Given the description of an element on the screen output the (x, y) to click on. 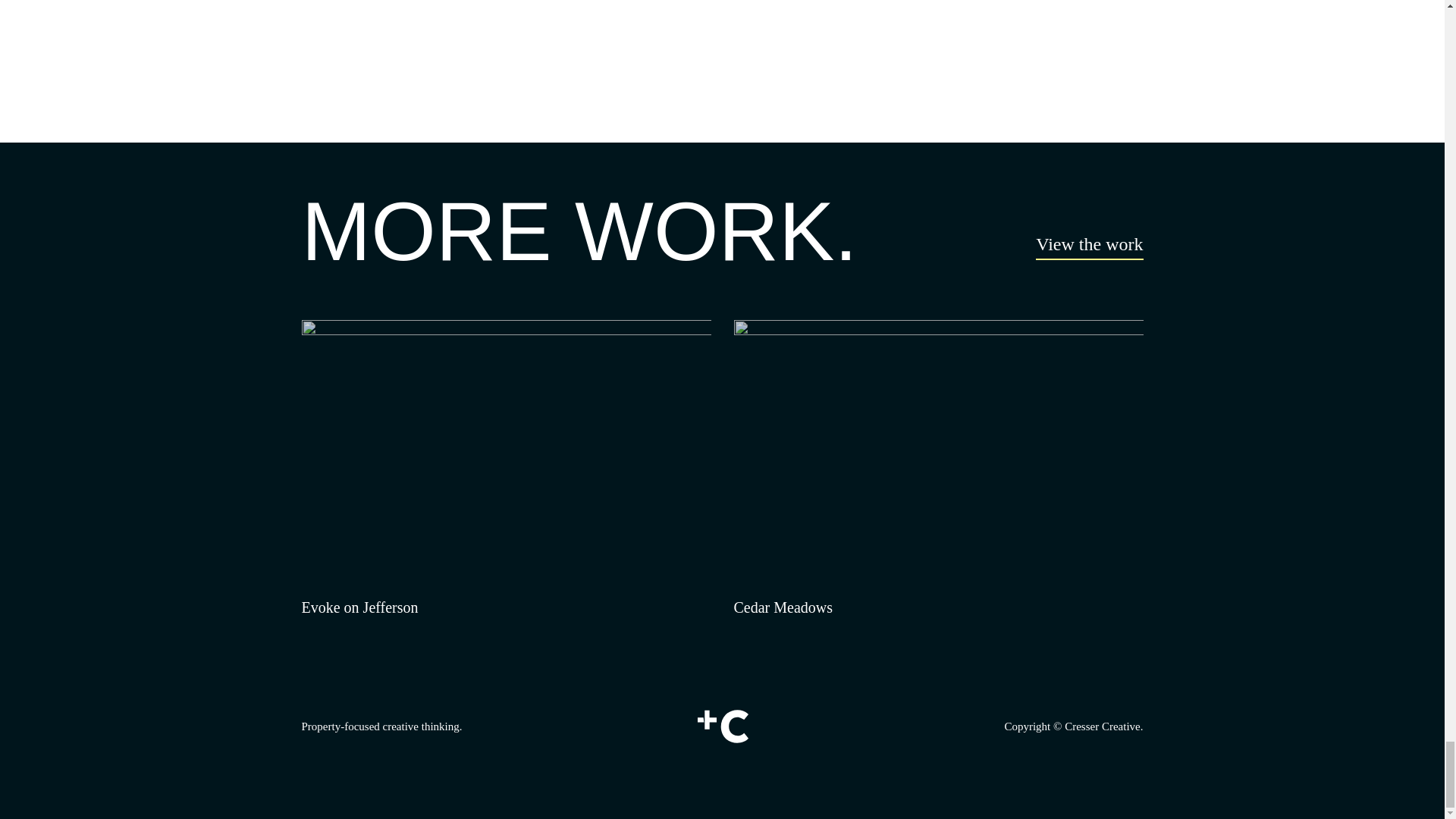
View the work (1088, 247)
Cedar Meadows (937, 469)
Evoke on Jefferson (506, 469)
